Given the description of an element on the screen output the (x, y) to click on. 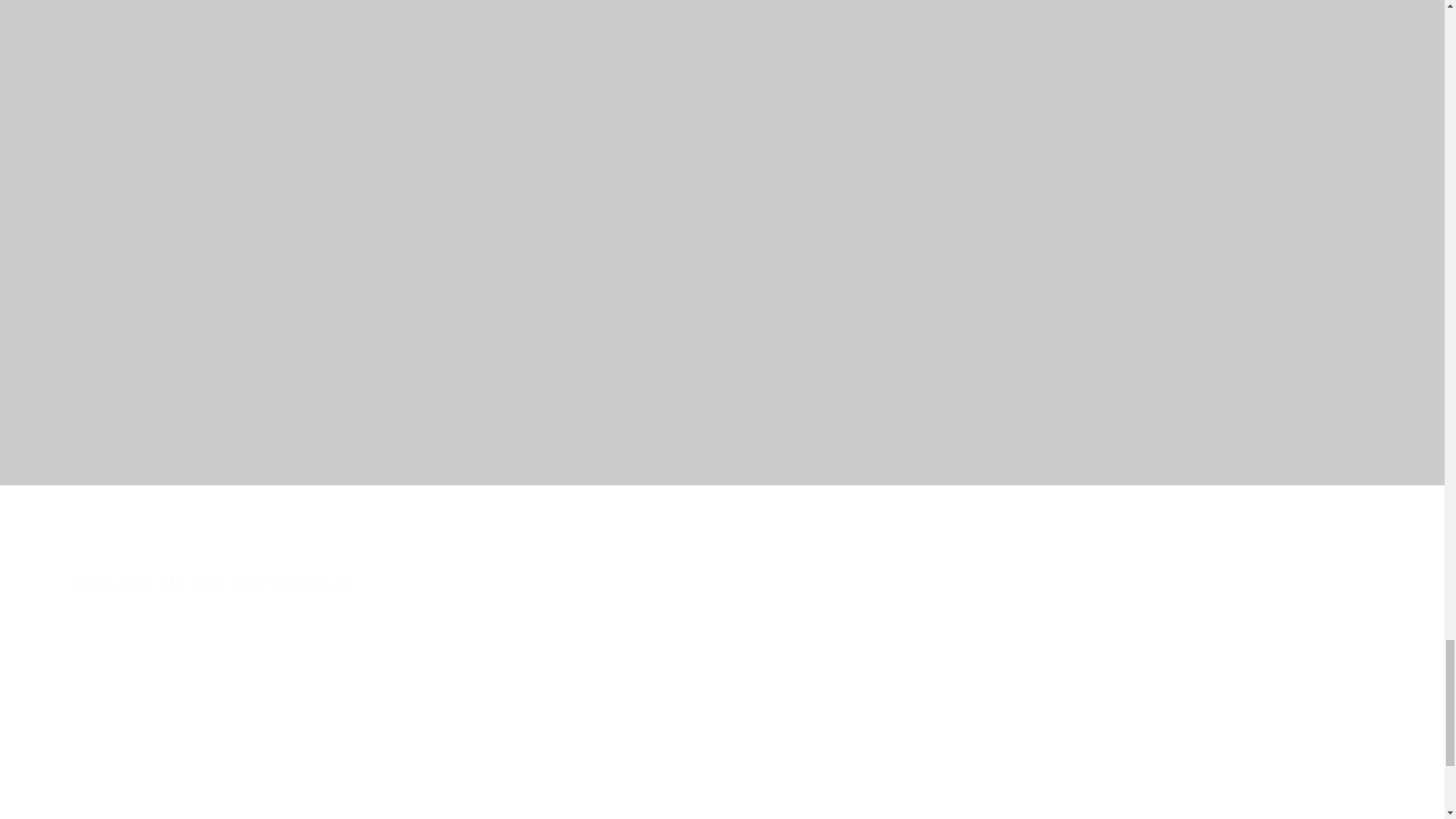
VIEW MY PORTFOLIO (721, 194)
